Given the description of an element on the screen output the (x, y) to click on. 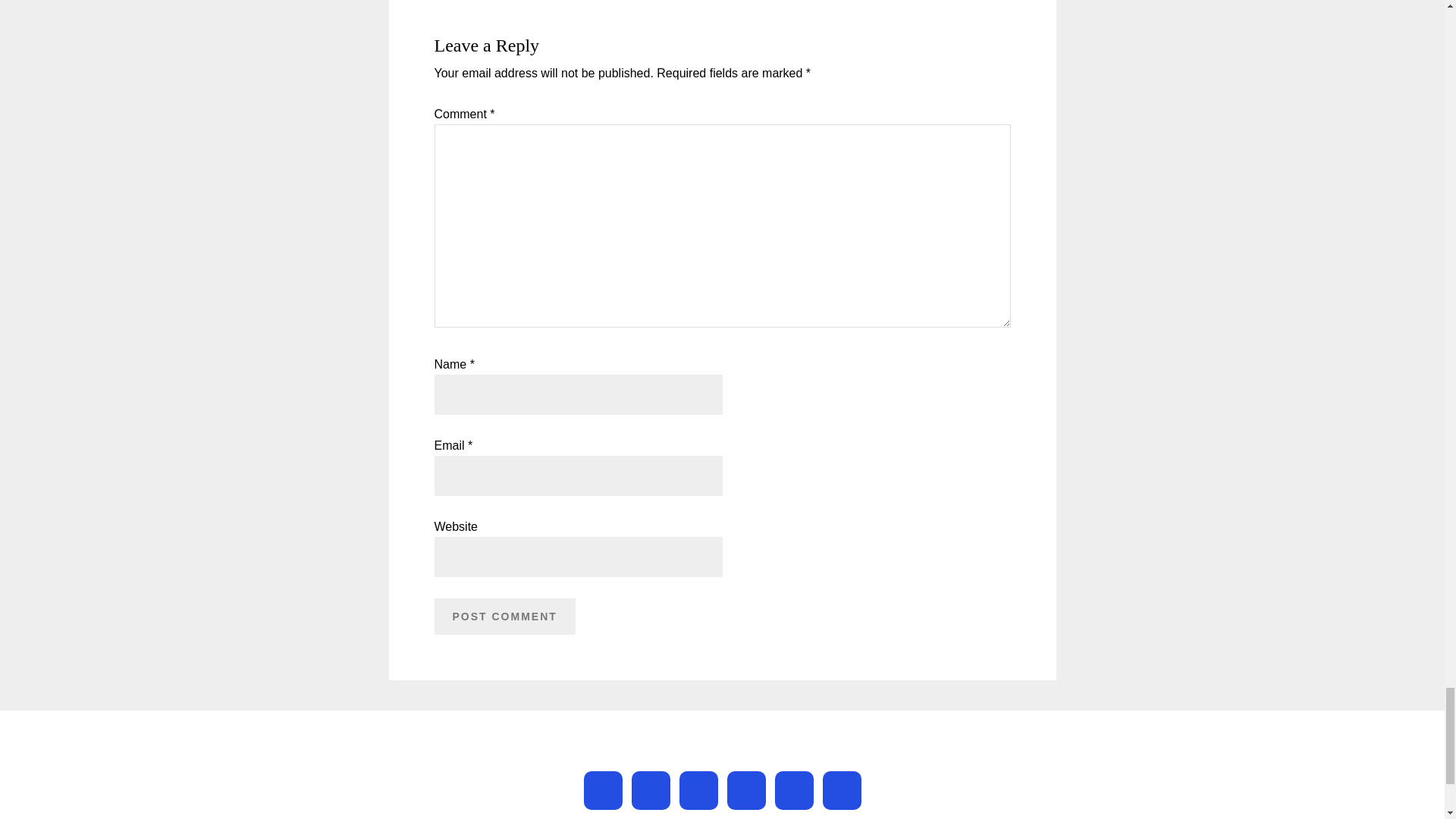
Post Comment (504, 616)
